Given the description of an element on the screen output the (x, y) to click on. 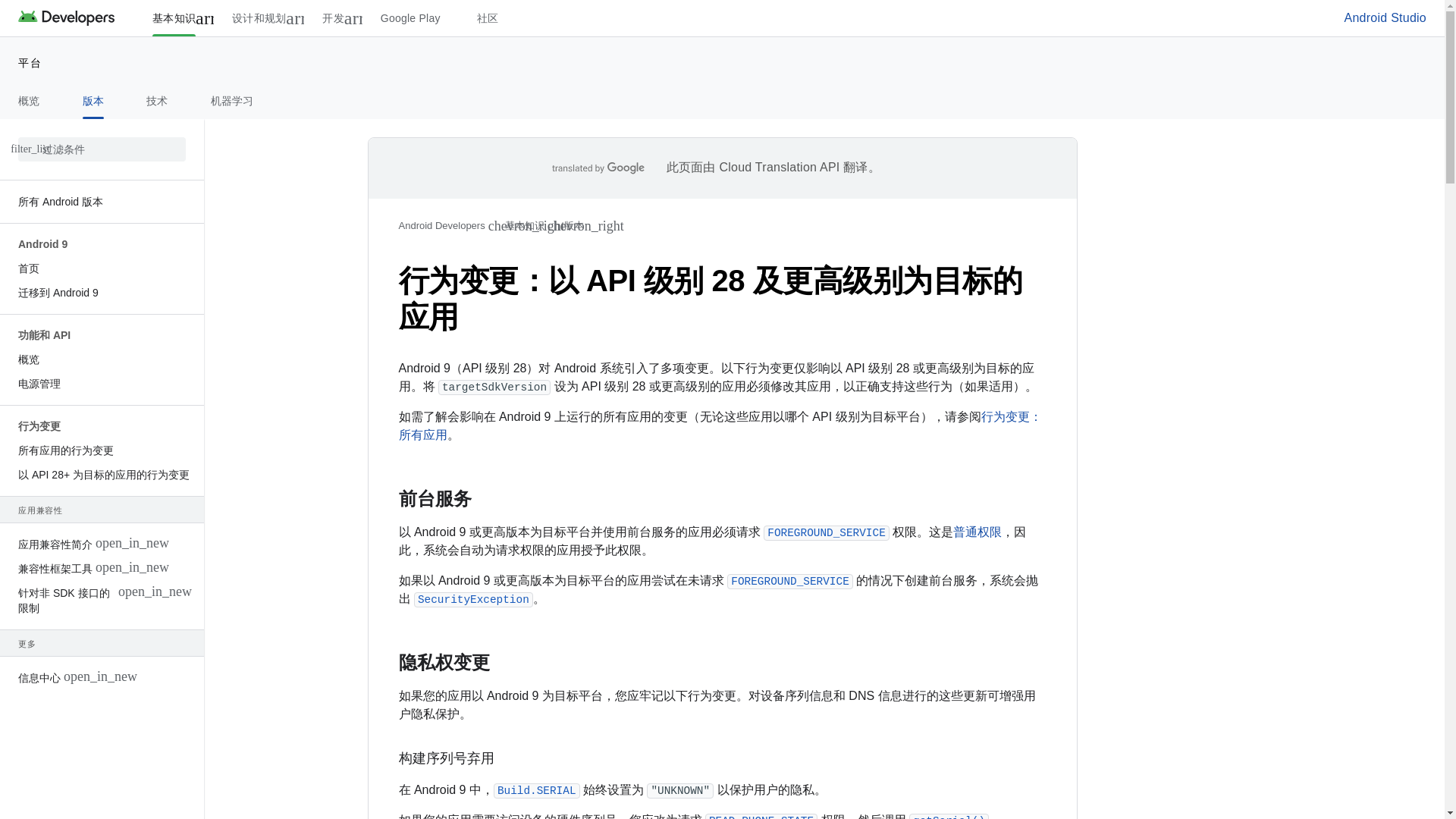
Google Play (410, 18)
Android Studio (1385, 17)
